Given the description of an element on the screen output the (x, y) to click on. 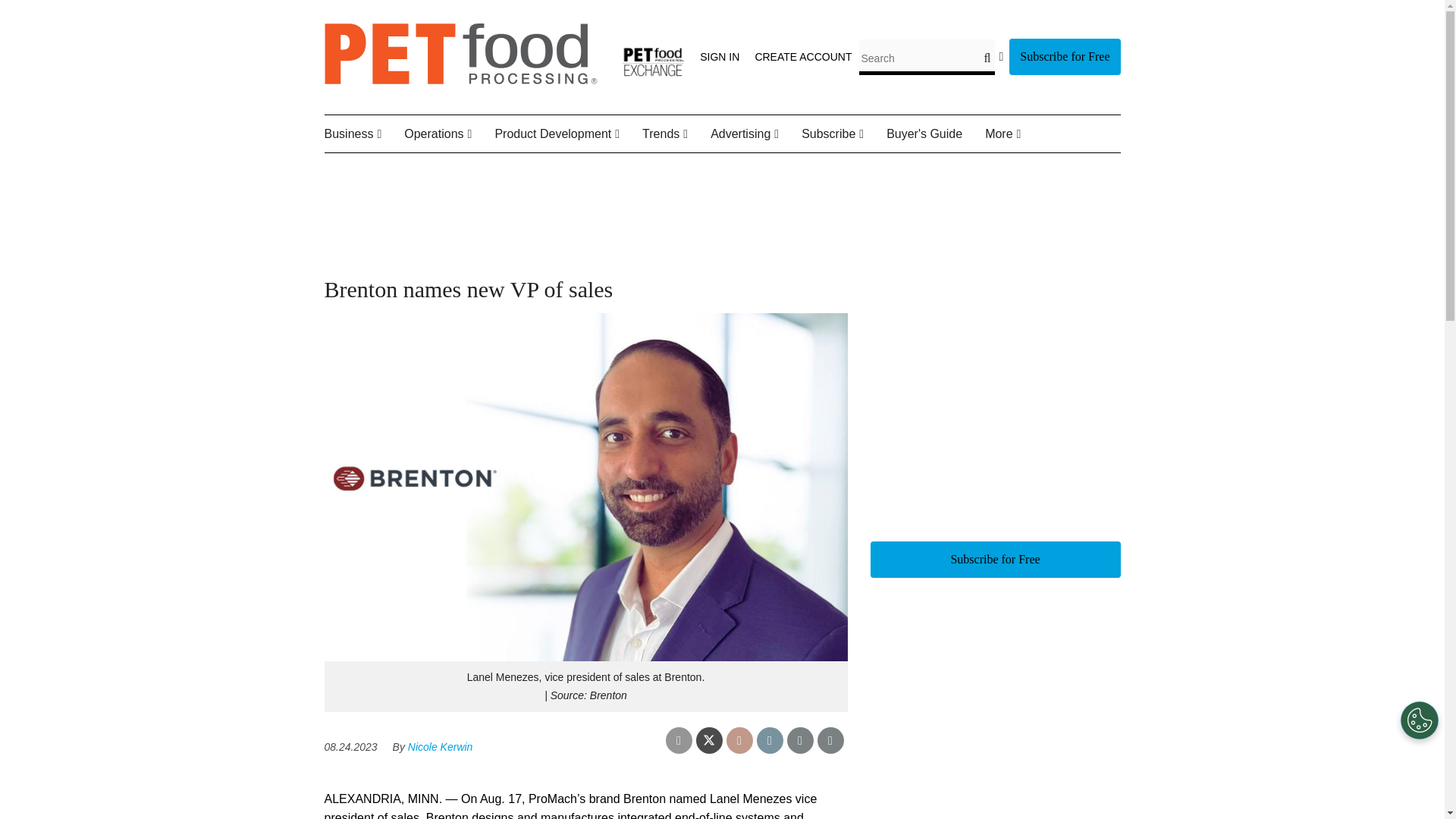
Petfood Processing (460, 80)
Cookies Settings (1419, 720)
